Given the description of an element on the screen output the (x, y) to click on. 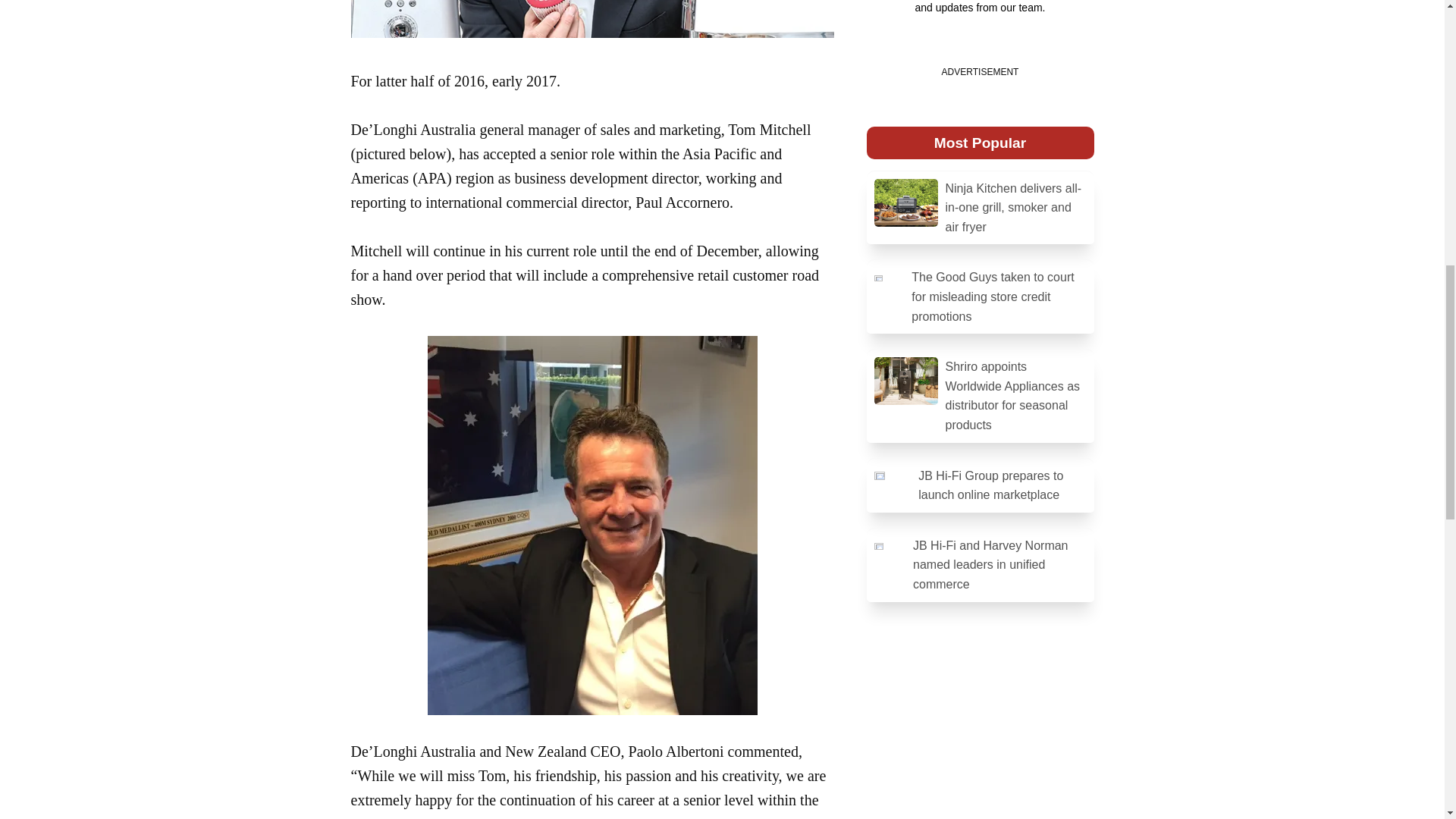
JB Hi-Fi Group prepares to launch online marketplace (979, 485)
JB Hi-Fi and Harvey Norman named leaders in unified commerce (979, 565)
